Given the description of an element on the screen output the (x, y) to click on. 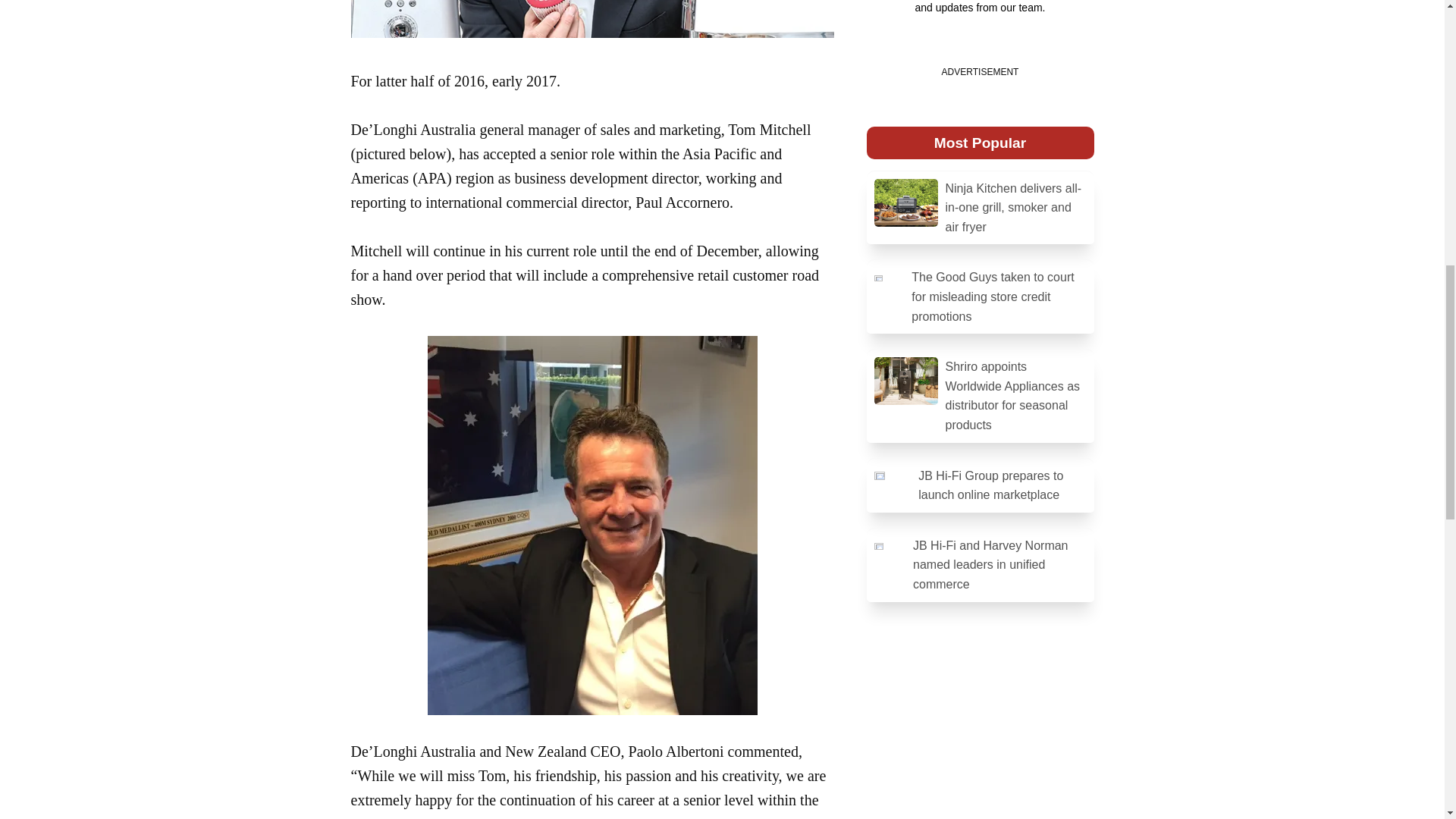
JB Hi-Fi Group prepares to launch online marketplace (979, 485)
JB Hi-Fi and Harvey Norman named leaders in unified commerce (979, 565)
